Given the description of an element on the screen output the (x, y) to click on. 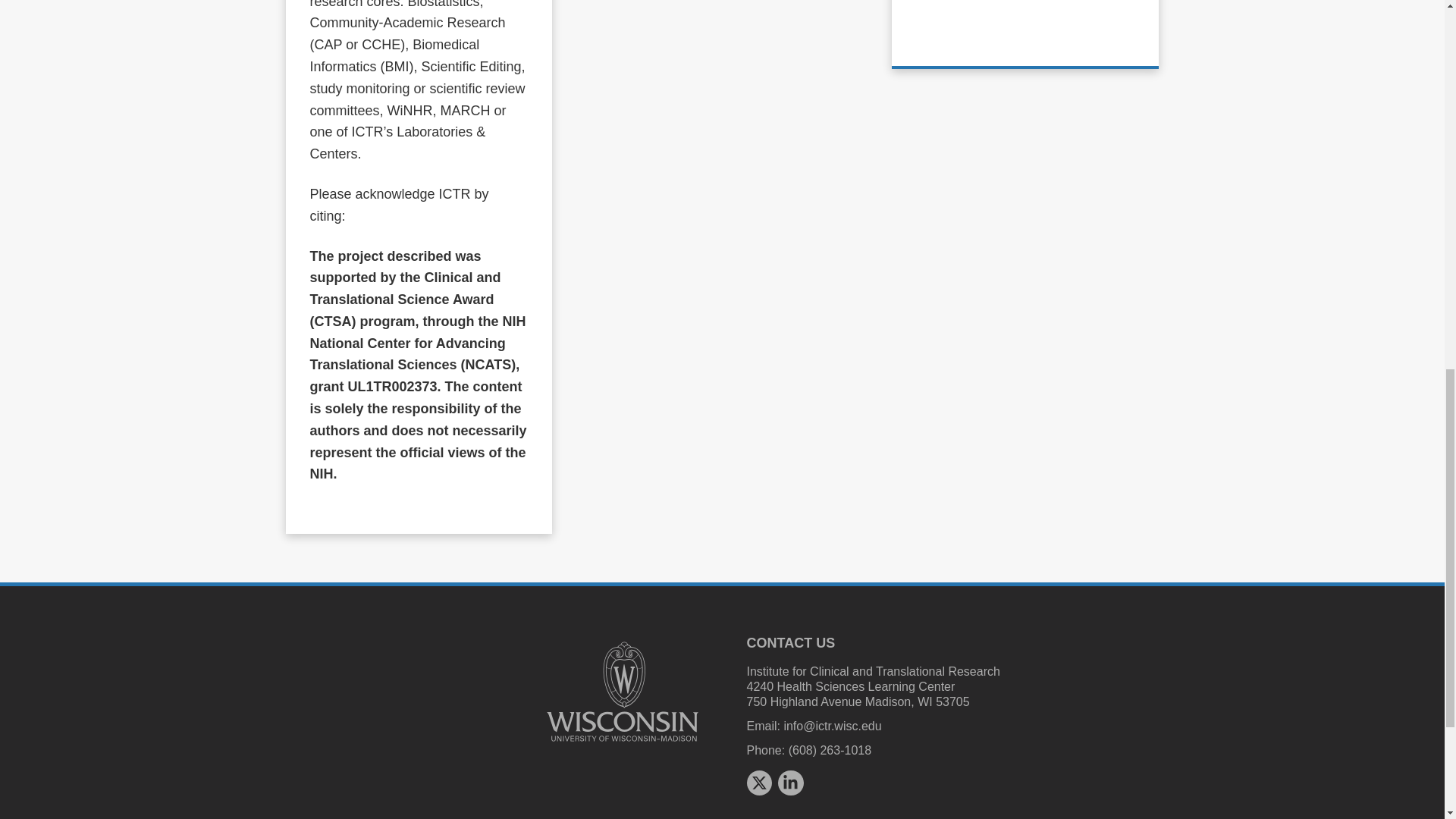
University logo that links to main university website (621, 691)
x twitter (759, 782)
linkedin (790, 782)
